Given the description of an element on the screen output the (x, y) to click on. 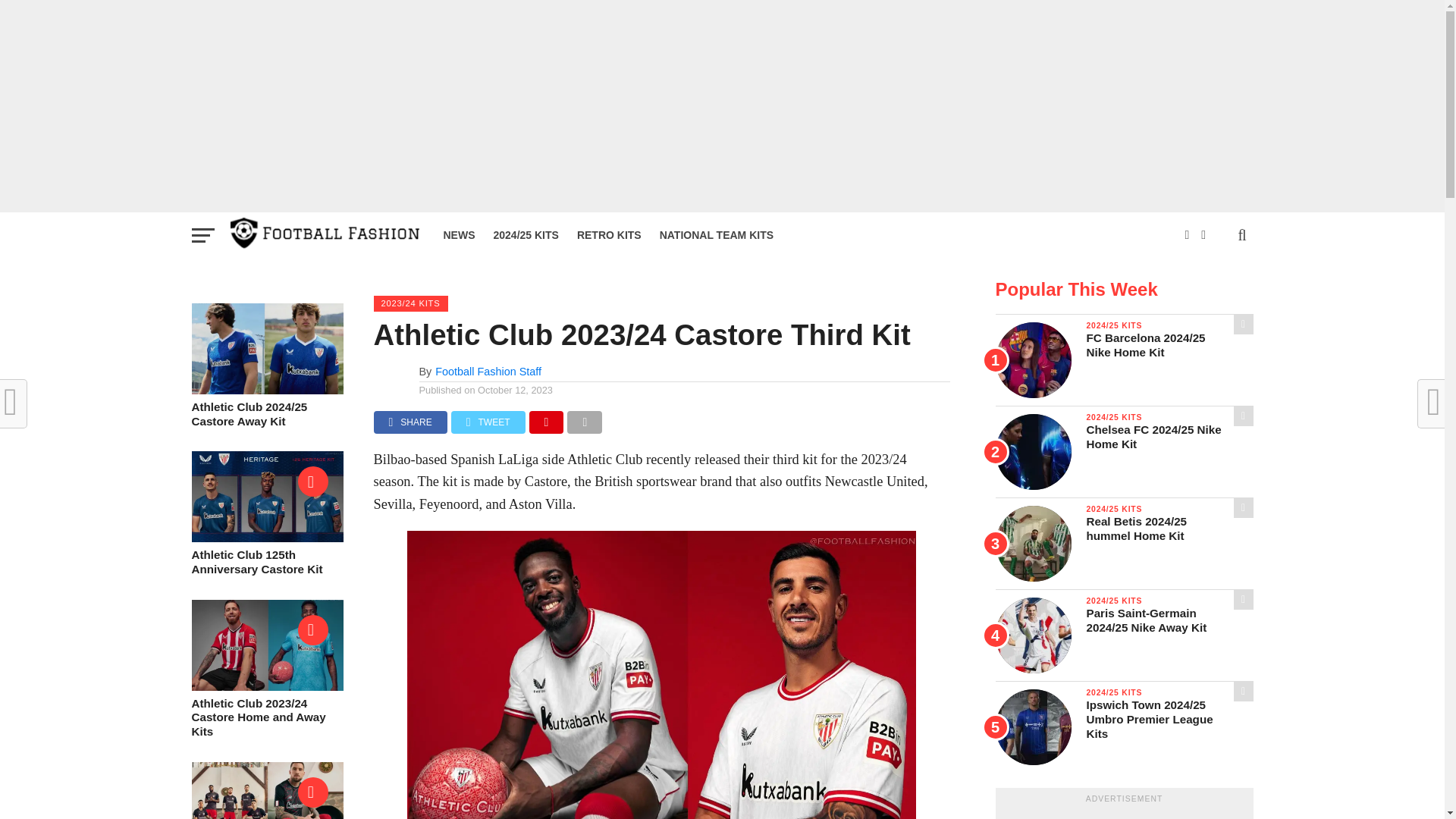
Athletic Club 125th Anniversary Castore Kit (266, 537)
Posts by Football Fashion Staff (488, 371)
